Given the description of an element on the screen output the (x, y) to click on. 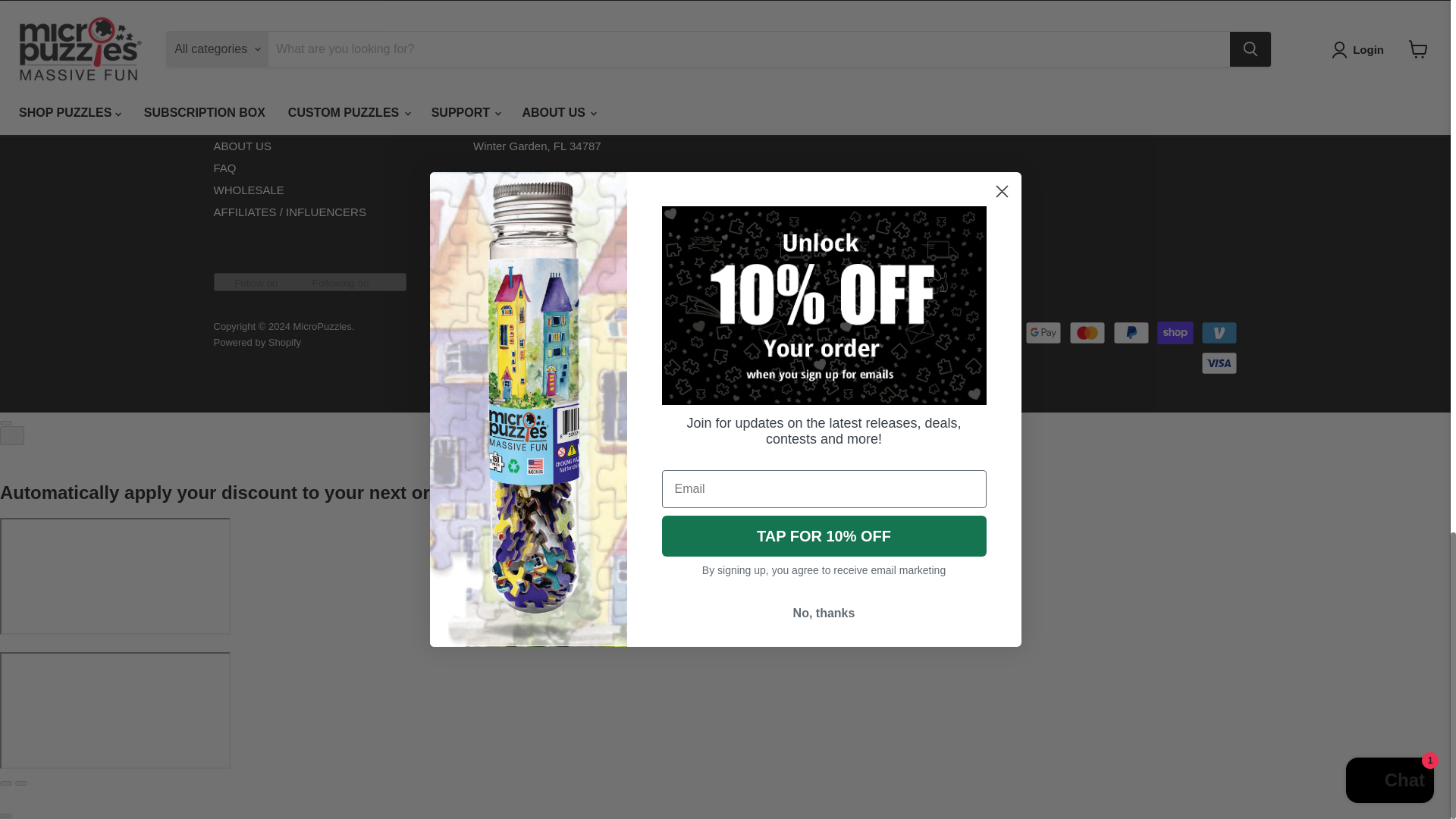
TikTok (852, 81)
Instagram (797, 81)
YouTube (879, 81)
Email (743, 81)
Pinterest (824, 81)
Facebook (770, 81)
